Given the description of an element on the screen output the (x, y) to click on. 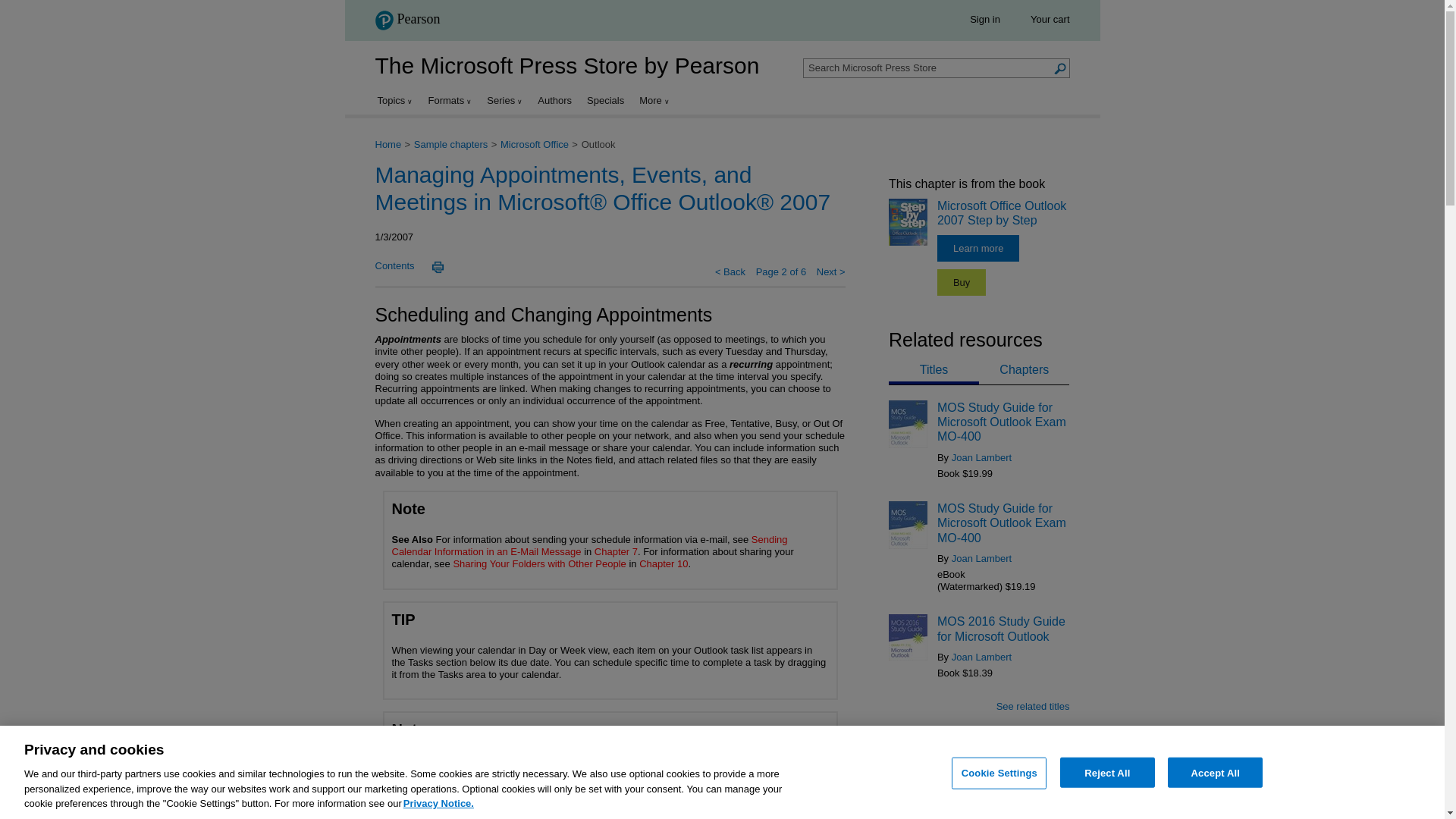
Specials (605, 100)
Authors (554, 100)
Print (437, 267)
Your cart (1050, 19)
Sign in (984, 19)
Pearson (411, 22)
The Microsoft Press Store by Pearson (566, 65)
Pearson (406, 20)
